Given the description of an element on the screen output the (x, y) to click on. 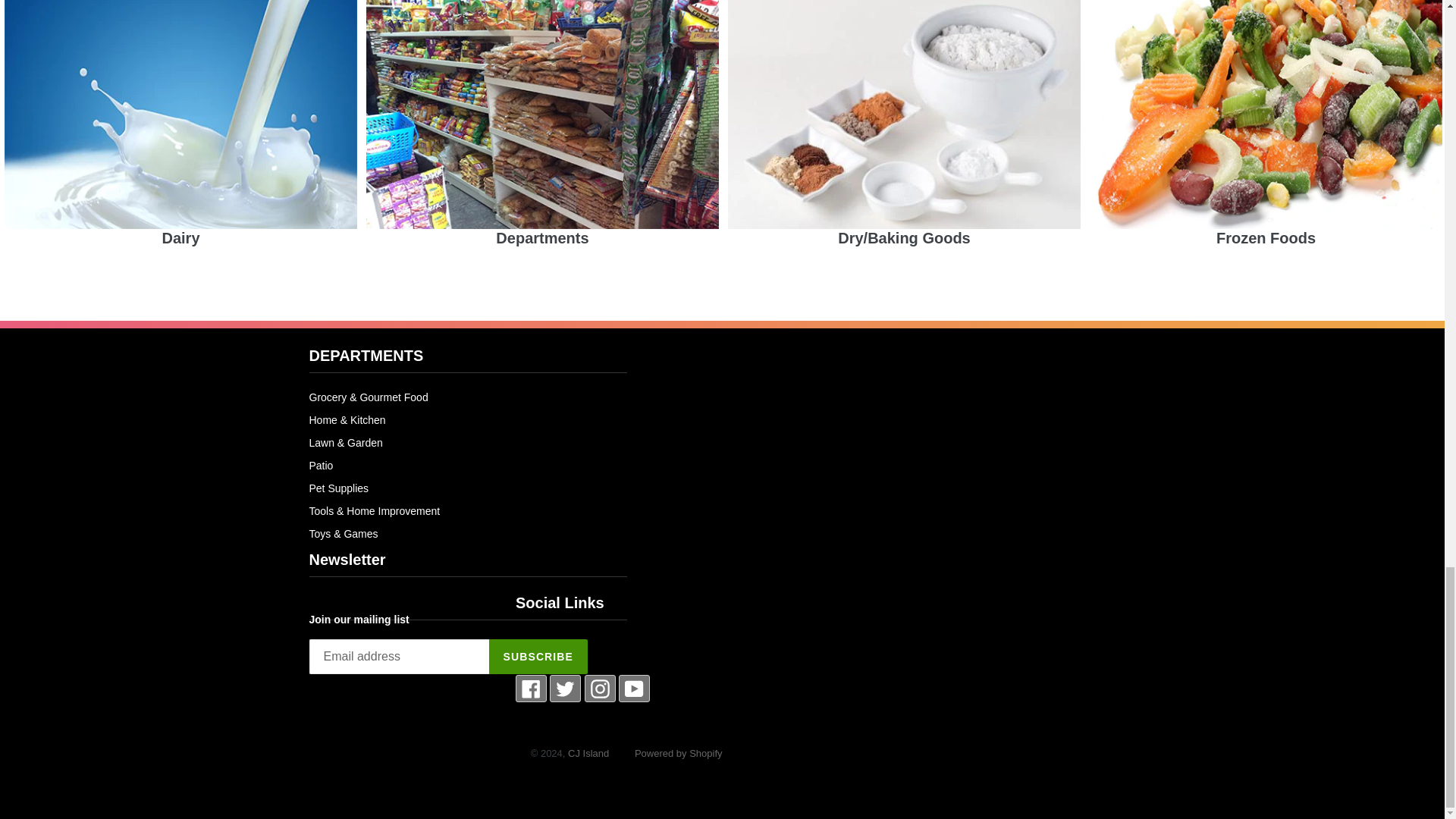
CJ Island  on Facebook (531, 687)
CJ Island  on Instagram (599, 687)
CJ Island  on YouTube (634, 687)
CJ Island  on Twitter (564, 687)
